Given the description of an element on the screen output the (x, y) to click on. 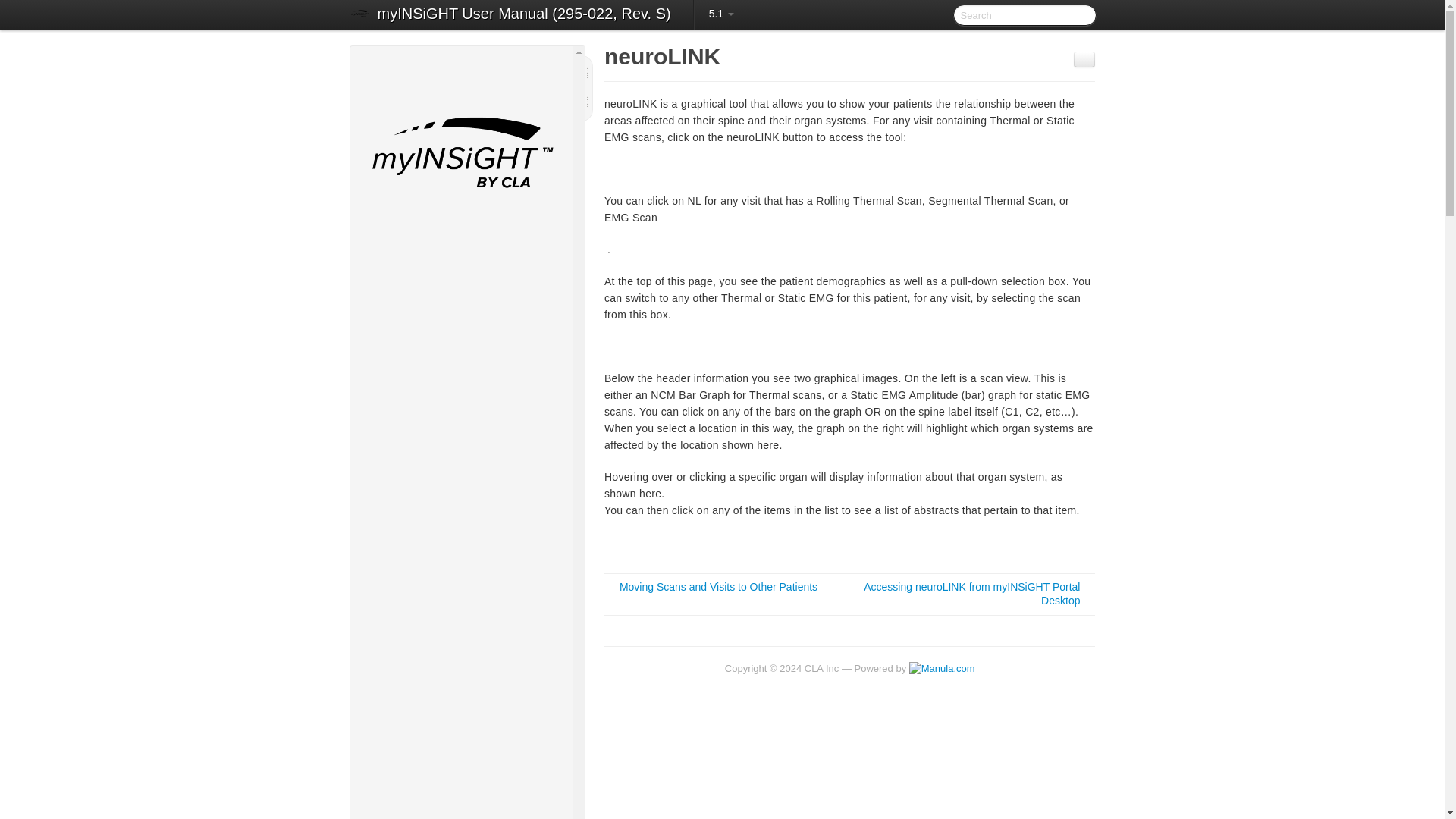
Importing All Patients (467, 626)
Importing a Patient when Scanning (467, 644)
Welcome to the World of INSiGHT Scanning Technology (460, 281)
Manula.com (941, 668)
Instrument Specifications Table (467, 342)
General Software Usage (460, 714)
Update your Password (467, 787)
Hardware Installation (467, 477)
Update Power Settings for USB Ports (467, 452)
Print page (1084, 59)
Symbols Glossary (467, 324)
Warranty Agreement (467, 306)
Update or Change your Security Questions (467, 807)
Navigation (467, 751)
How to Log into the Software (467, 732)
